Given the description of an element on the screen output the (x, y) to click on. 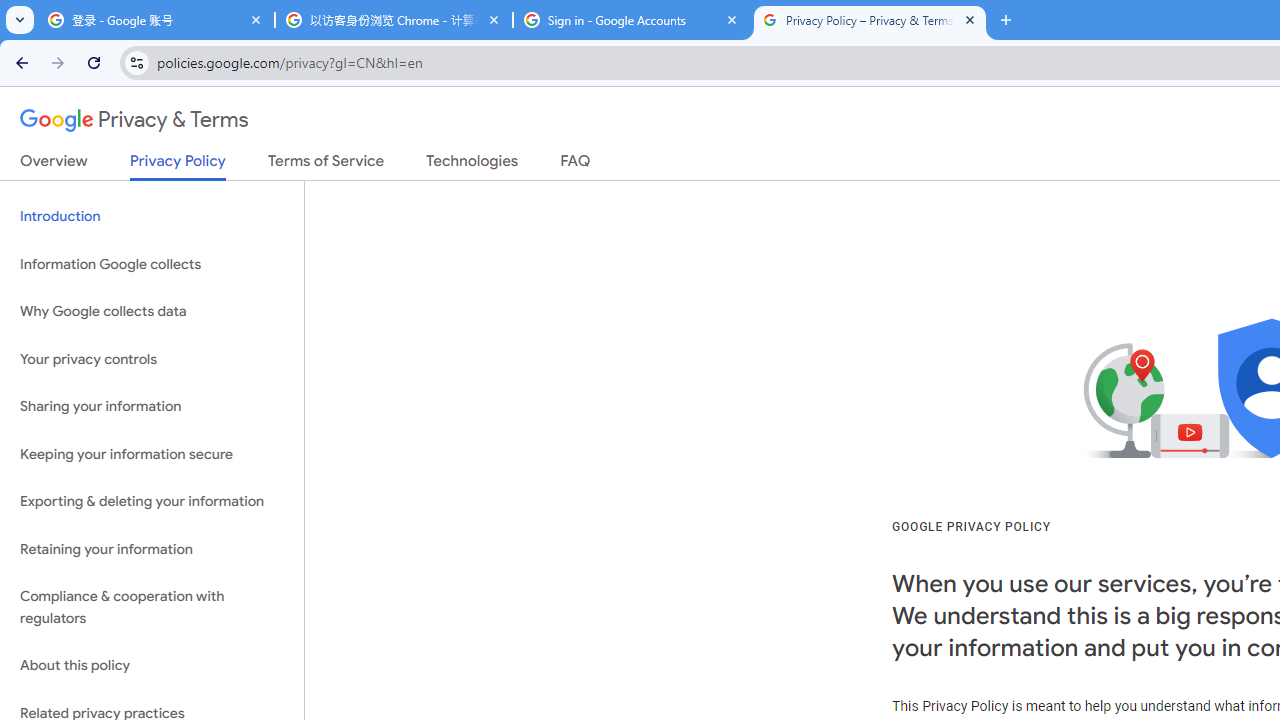
About this policy (152, 666)
Your privacy controls (152, 358)
Privacy & Terms (134, 120)
Terms of Service (326, 165)
Why Google collects data (152, 312)
Sign in - Google Accounts (632, 20)
Introduction (152, 216)
Information Google collects (152, 263)
